Given the description of an element on the screen output the (x, y) to click on. 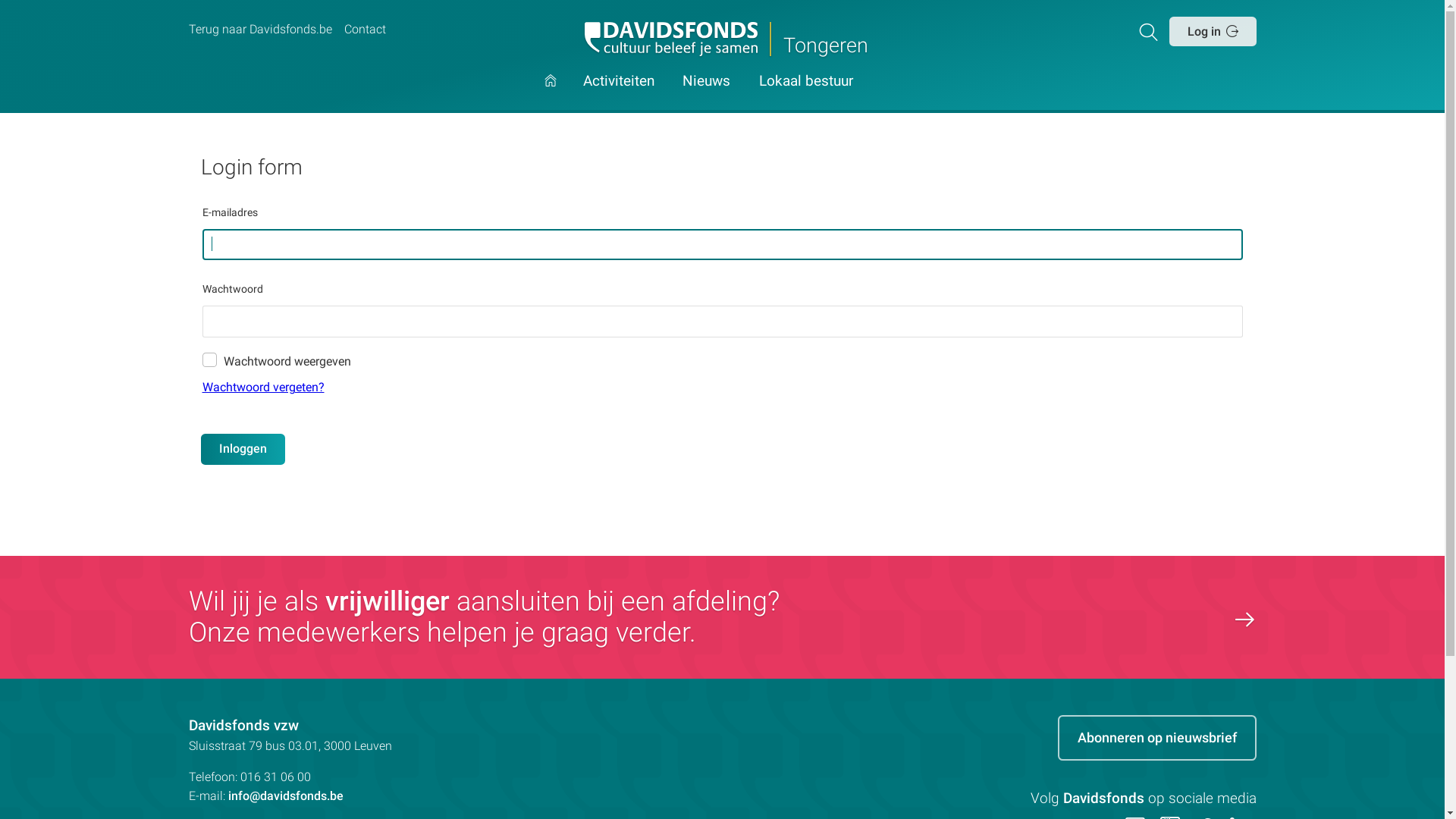
Nieuws Element type: text (706, 93)
Wachtwoord vergeten? Element type: text (721, 387)
Abonneren op nieuwsbrief Element type: text (1156, 737)
Log in Element type: text (1212, 30)
Contact Element type: text (364, 30)
Inloggen Element type: text (242, 448)
Lokaal bestuur Element type: text (806, 93)
Hoofdpagina Element type: text (550, 93)
Zoeken Element type: text (1150, 31)
Terug naar Davidsfonds.be Element type: text (259, 30)
Activiteiten Element type: text (618, 93)
Tongeren Element type: text (721, 38)
